Given the description of an element on the screen output the (x, y) to click on. 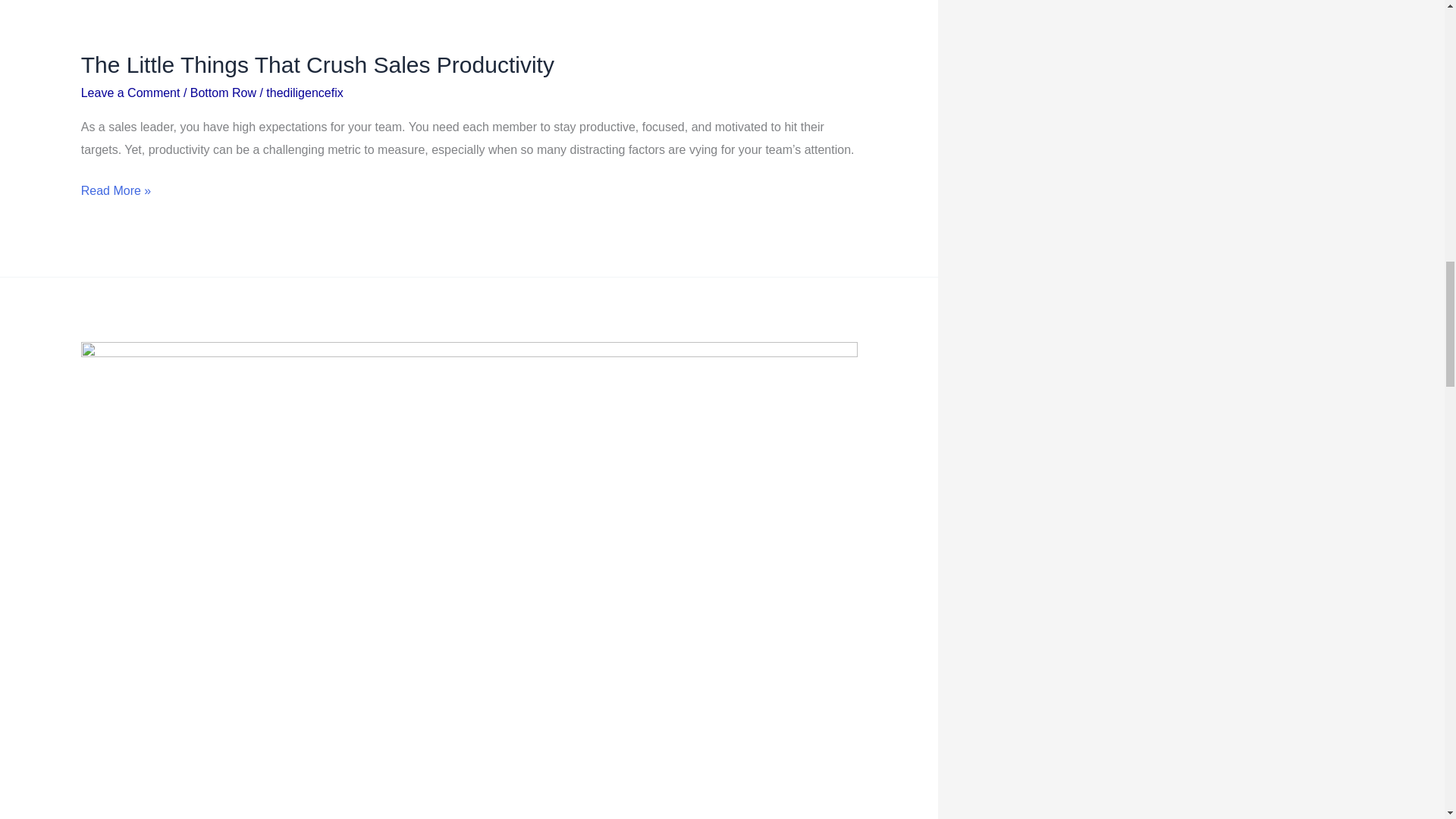
View all posts by thediligencefix (304, 92)
The Little Things That Crush Sales Productivity (317, 64)
Leave a Comment (130, 92)
thediligencefix (304, 92)
Bottom Row (223, 92)
